Given the description of an element on the screen output the (x, y) to click on. 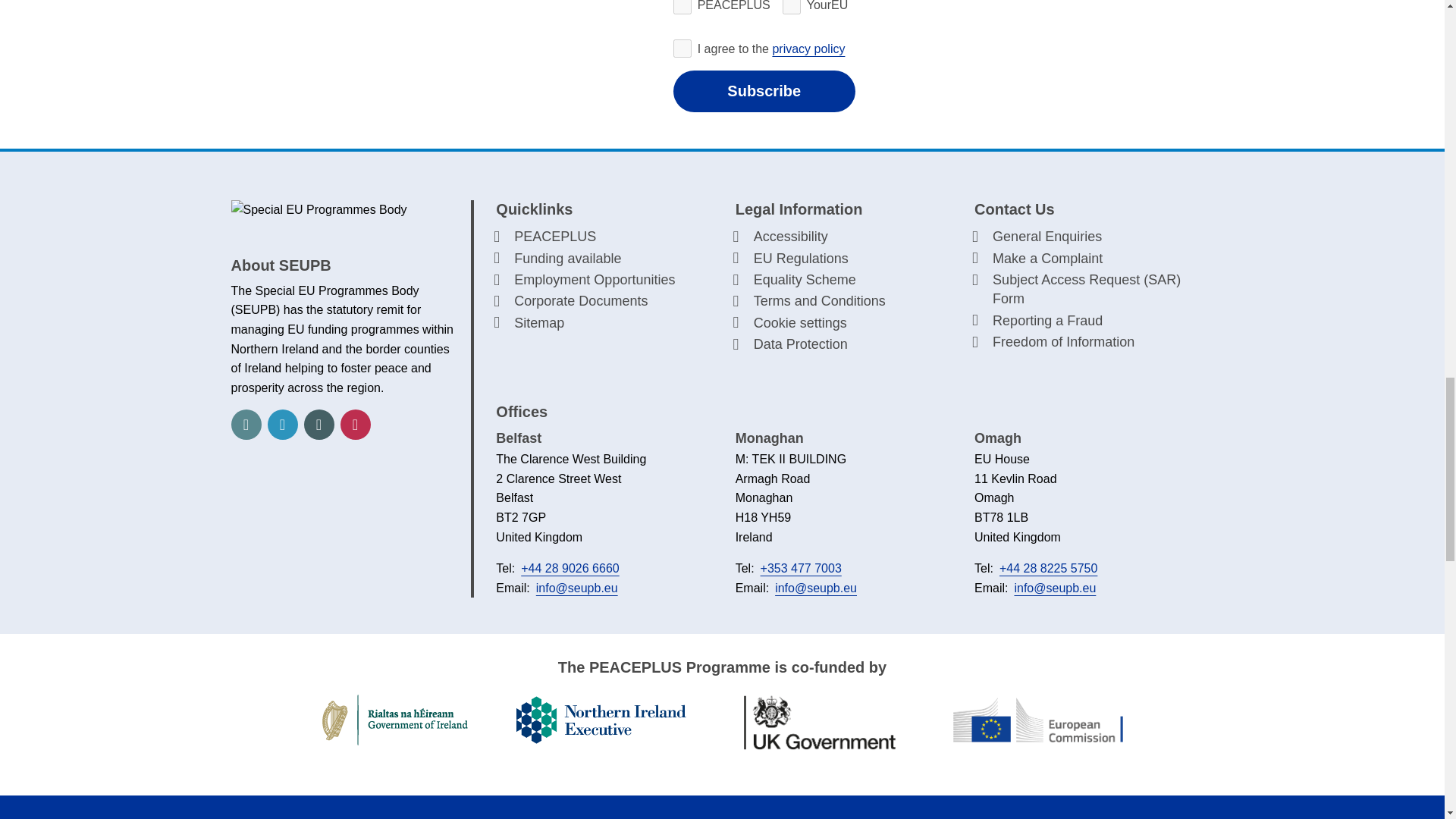
1 (681, 48)
Subscribe (764, 91)
819661ec74 (681, 7)
PEACEPLUS Communication Guidelines (162, 509)
ca28ff2d01 (791, 7)
Open the cookie consent dialog. (842, 322)
